Given the description of an element on the screen output the (x, y) to click on. 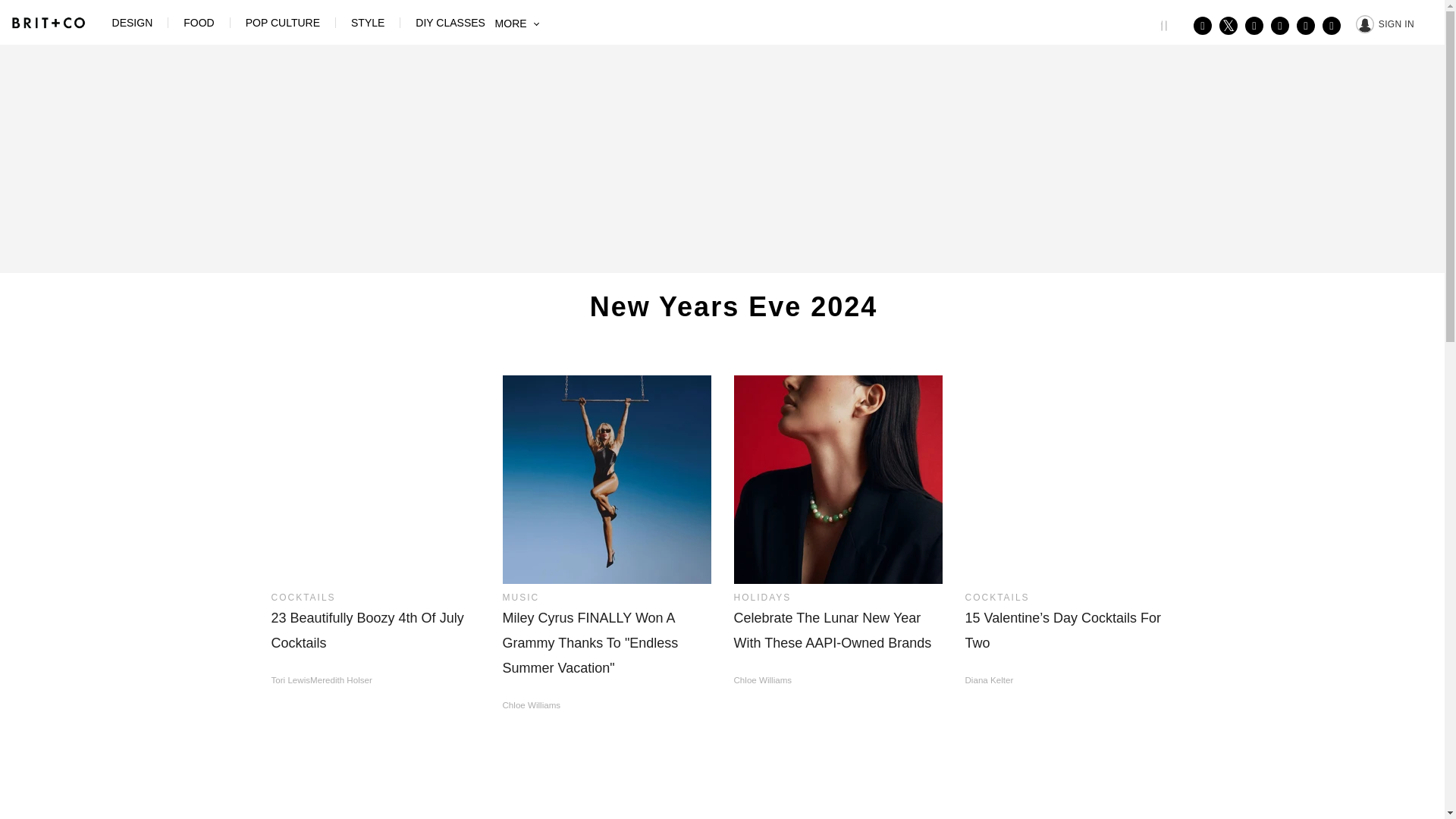
SIGN IN (1384, 23)
STYLE (367, 22)
DESIGN (132, 22)
FOOD (198, 22)
POP CULTURE (283, 22)
DIY CLASSES (449, 22)
